Given the description of an element on the screen output the (x, y) to click on. 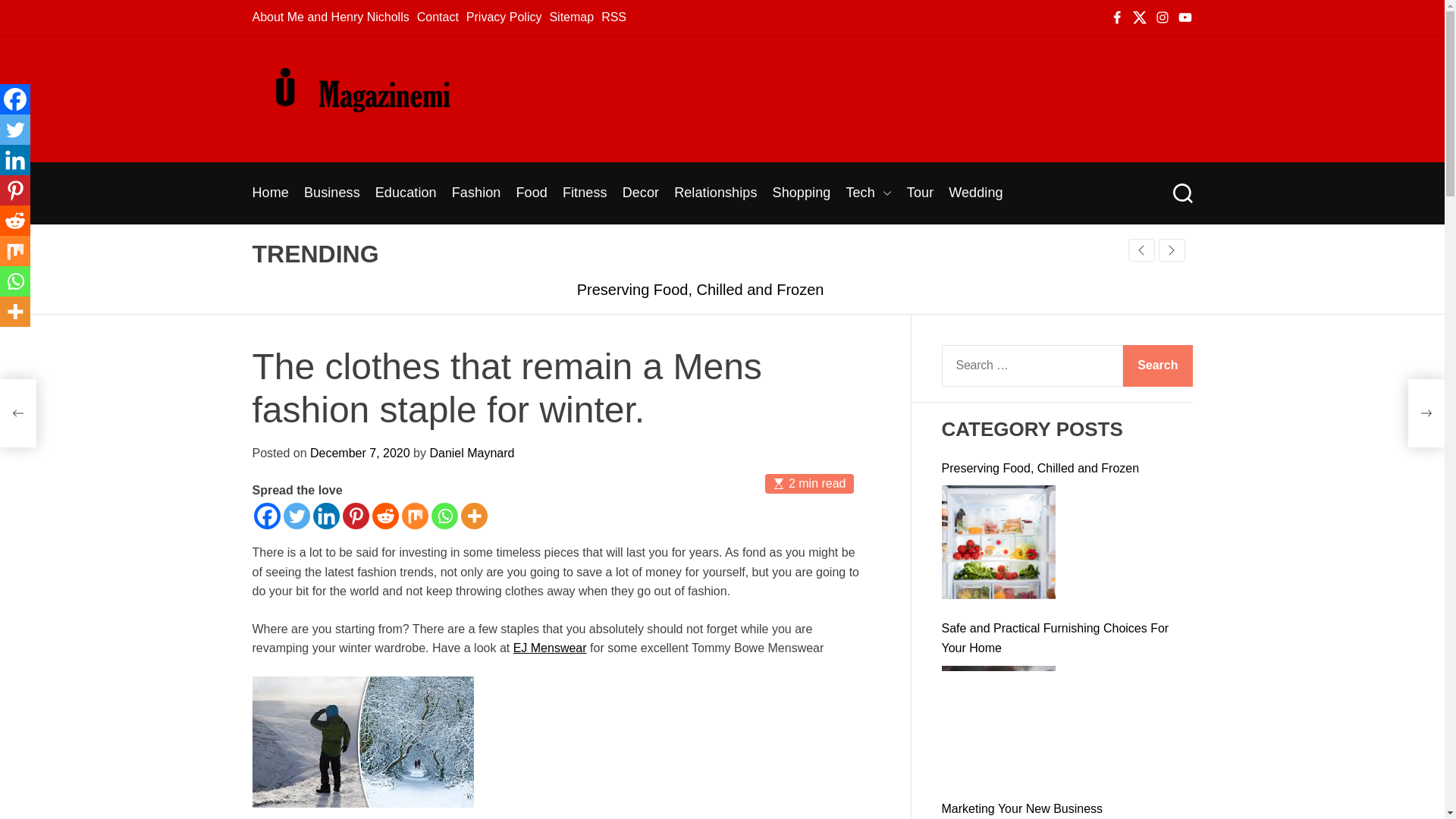
Whatsapp (443, 515)
Wedding (976, 193)
Twitter (296, 515)
Sitemap (571, 16)
Food (531, 193)
Reddit (384, 515)
RSS (613, 16)
Contact (437, 16)
Fashion (475, 193)
Education (405, 193)
Search (1182, 193)
Relationships (715, 193)
instagram (1161, 17)
facebook (1116, 17)
Mix (414, 515)
